Given the description of an element on the screen output the (x, y) to click on. 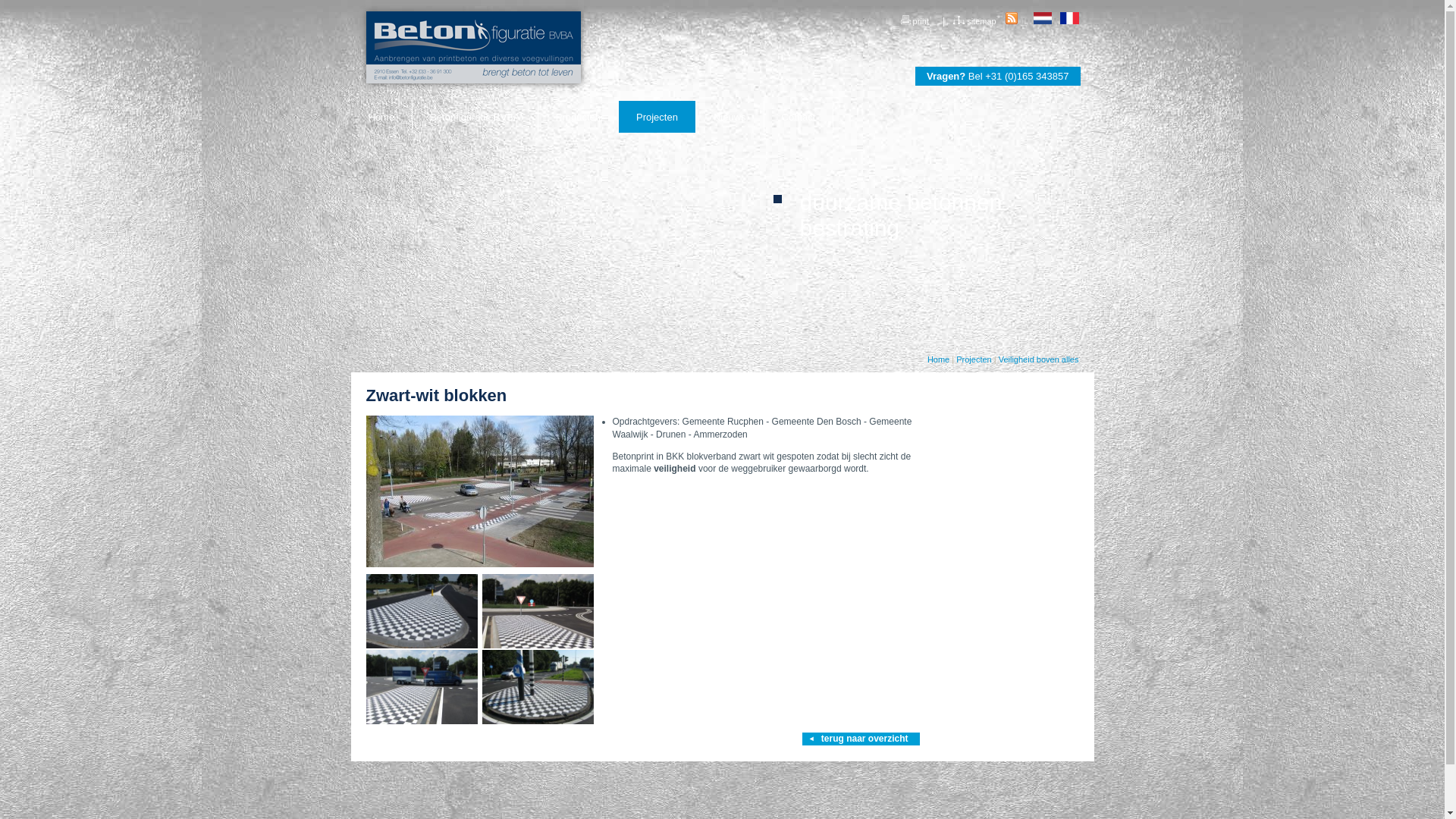
Home Element type: text (381, 116)
Projecten Element type: text (973, 359)
Veiligheid boven alles Element type: text (1038, 359)
sitemap Element type: hover (958, 19)
Contact Element type: text (799, 116)
Nieuws Element type: text (730, 116)
print Element type: hover (904, 19)
terug naar overzicht Element type: text (860, 739)
Betonfiguratie Element type: hover (472, 47)
feed Element type: hover (1010, 18)
Producten Element type: text (578, 116)
Projecten Element type: text (657, 116)
Betonfiguratie BVBA Element type: text (475, 116)
Home Element type: text (938, 359)
print Element type: text (913, 20)
sitemap Element type: text (974, 20)
